Given the description of an element on the screen output the (x, y) to click on. 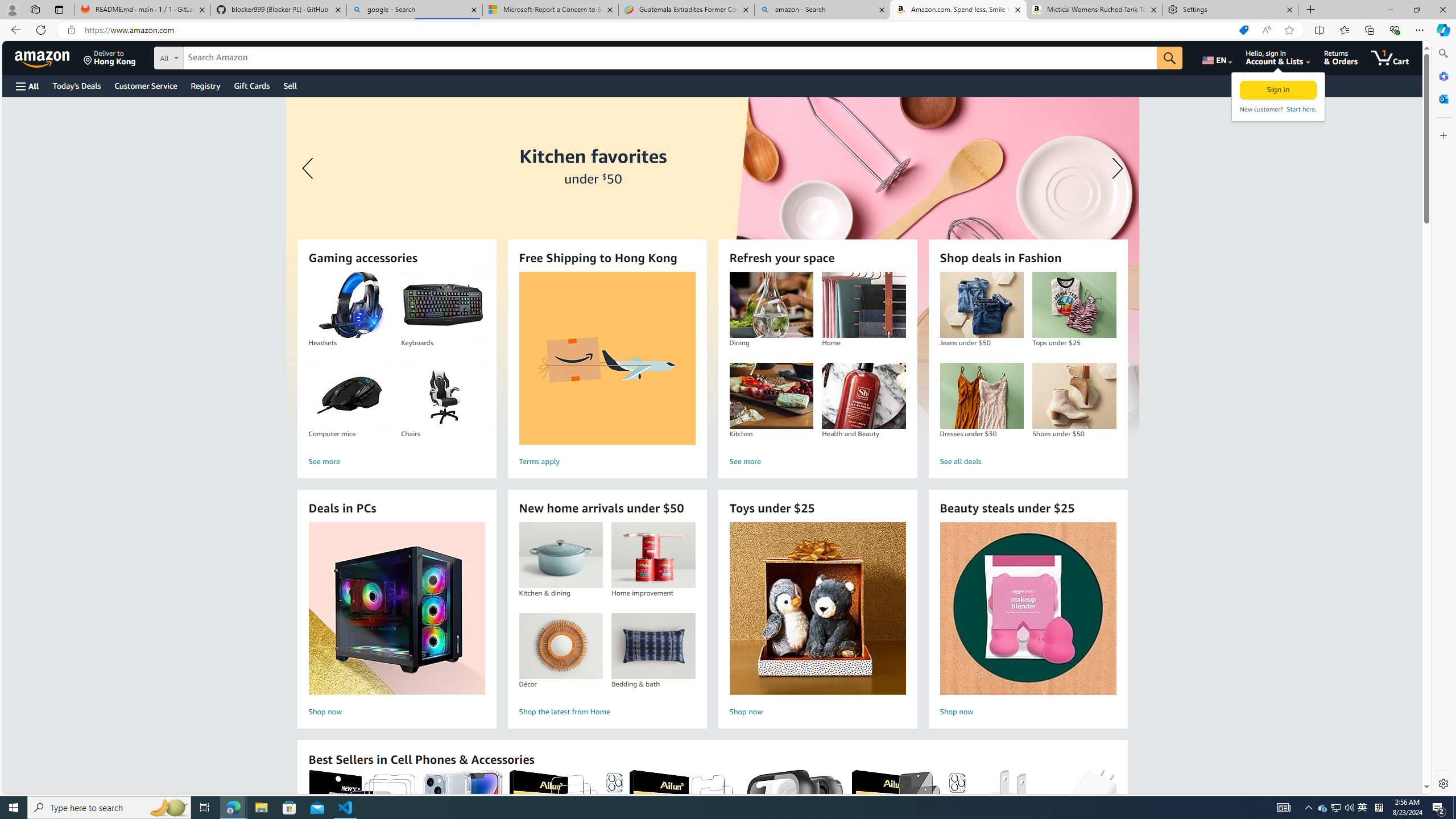
Dresses under $30 (981, 395)
Settings (1442, 783)
Side bar (1443, 418)
Free Shipping to Hong Kong Terms apply (606, 370)
See all deals (1027, 461)
Back (13, 29)
Settings and more (Alt+F) (1419, 29)
Refresh (40, 29)
Kitchen & dining (560, 555)
Close (1442, 9)
google - Search (414, 9)
Toys under $25 (818, 608)
Toys under $25 Shop now (817, 620)
